Given the description of an element on the screen output the (x, y) to click on. 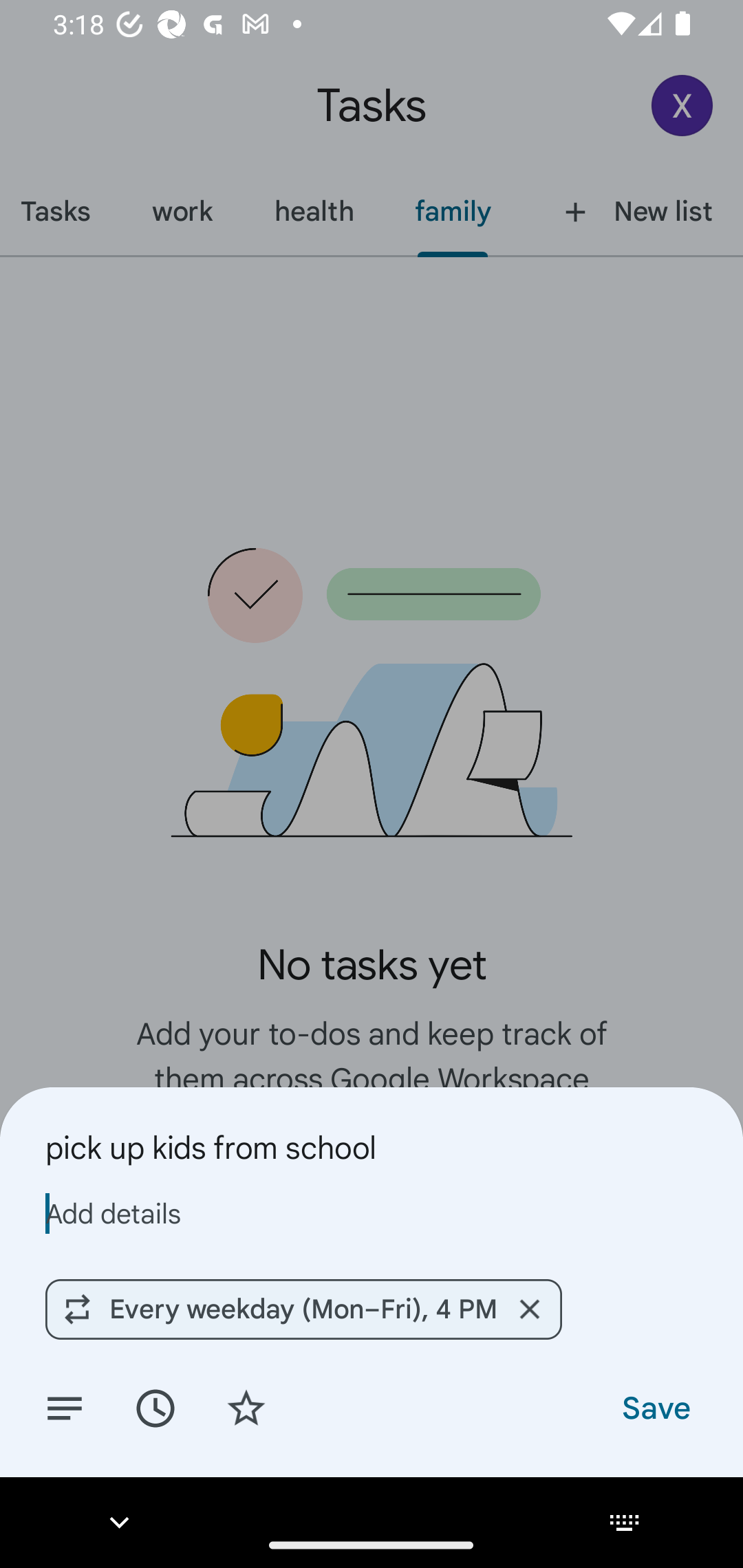
pick up kids from school (371, 1147)
Add details (371, 1213)
Save (655, 1407)
Add details (64, 1407)
Set date/time (154, 1407)
Add star (245, 1407)
